Given the description of an element on the screen output the (x, y) to click on. 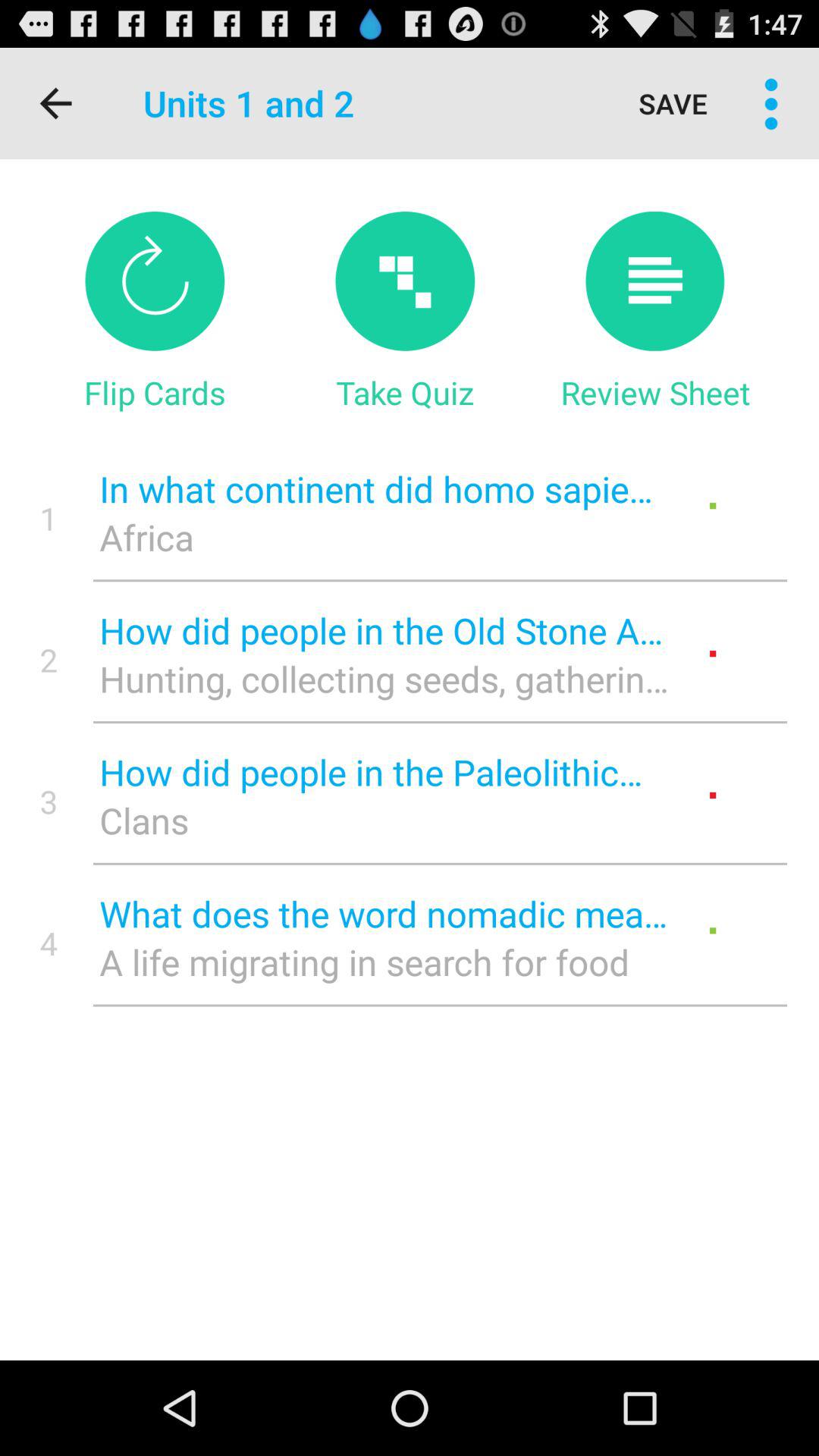
click item to the right of the 4 item (384, 913)
